Given the description of an element on the screen output the (x, y) to click on. 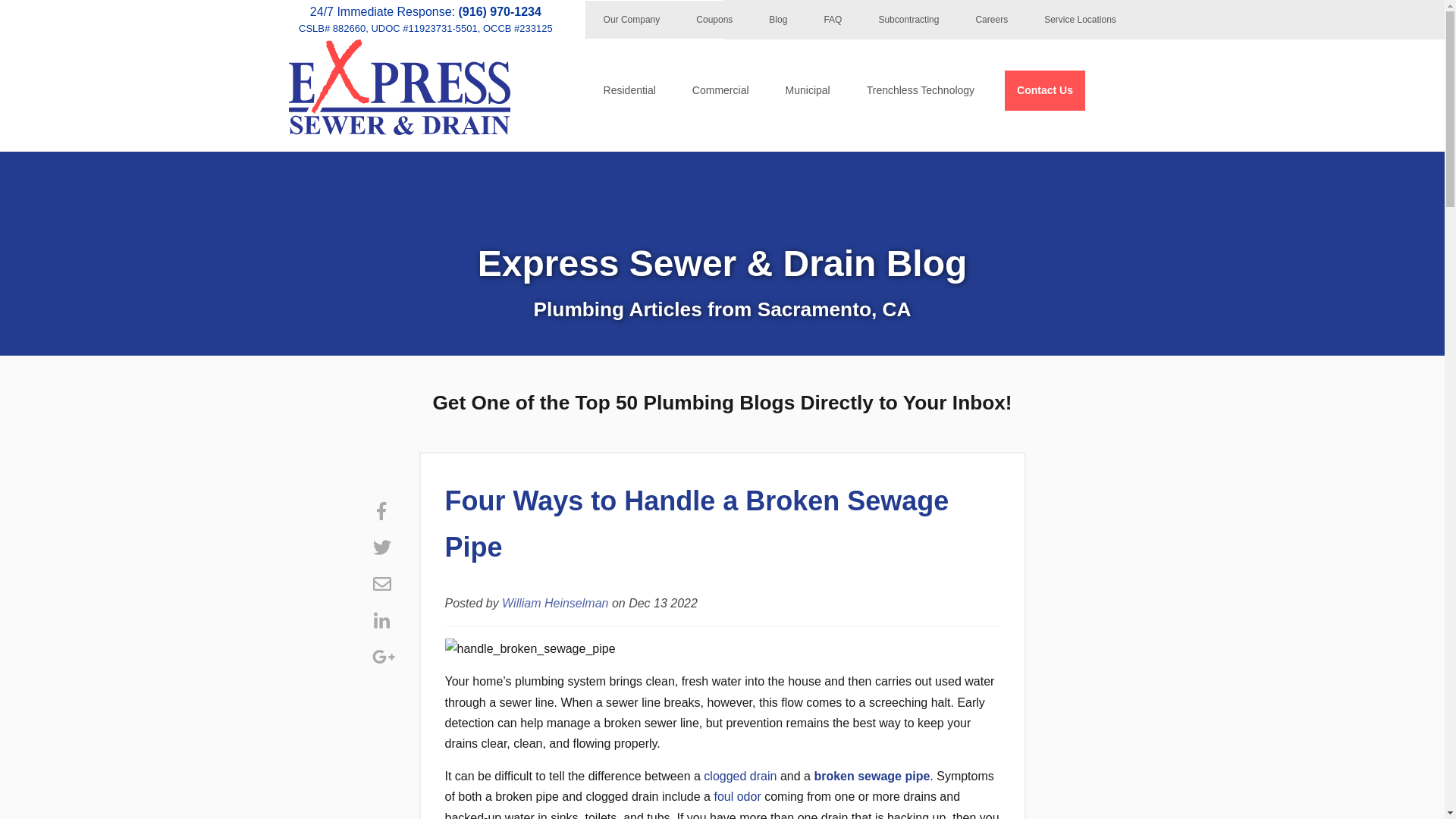
Subcontracting (908, 19)
Express Sewer and Drain (398, 130)
Careers (991, 19)
Residential (629, 90)
Trenchless Technology (920, 90)
Share via Facebook (381, 511)
Share via Email (381, 583)
Coupons (714, 19)
Service Locations (1080, 19)
Commercial (720, 90)
